Given the description of an element on the screen output the (x, y) to click on. 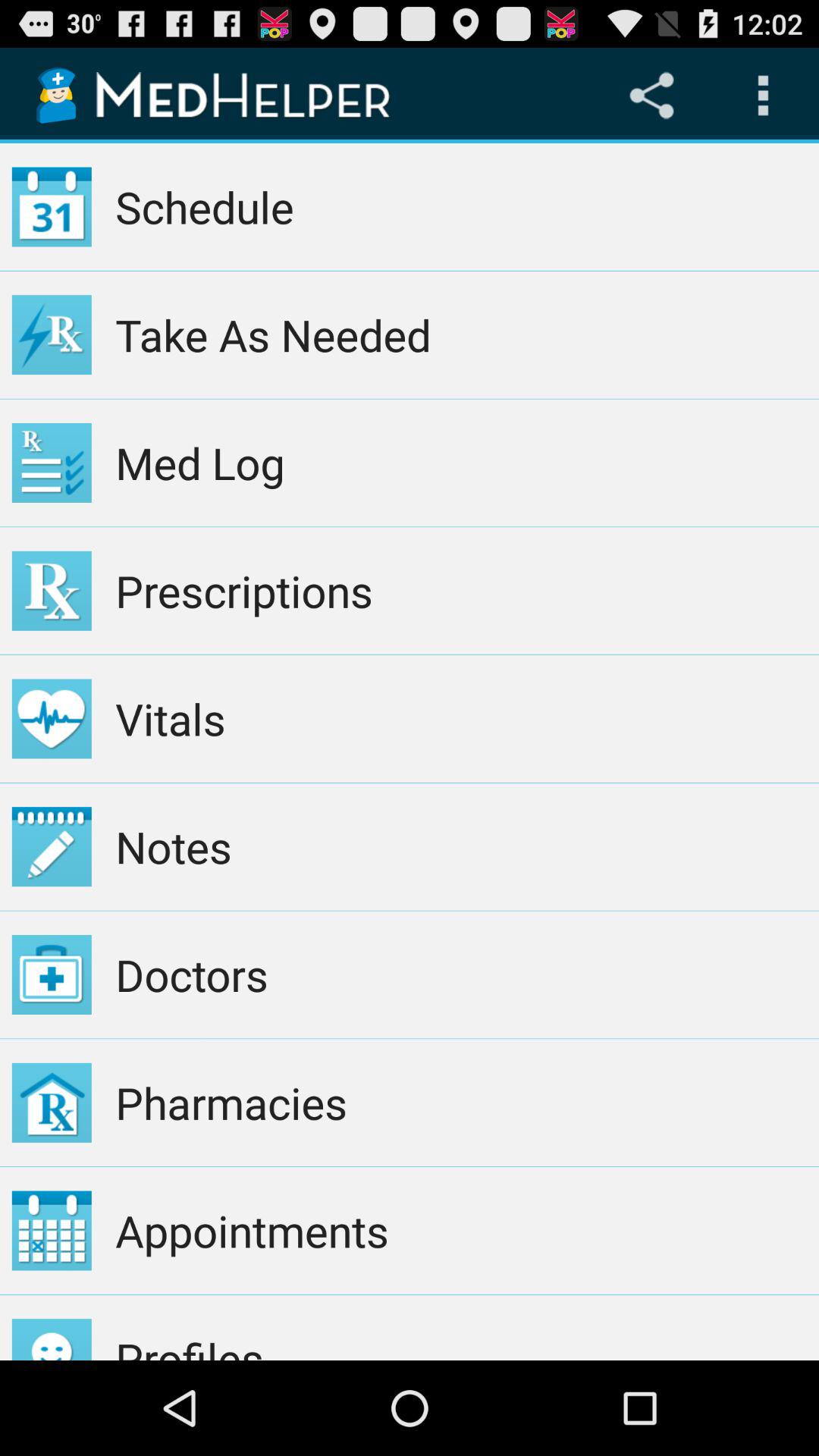
choose doctors app (461, 974)
